Given the description of an element on the screen output the (x, y) to click on. 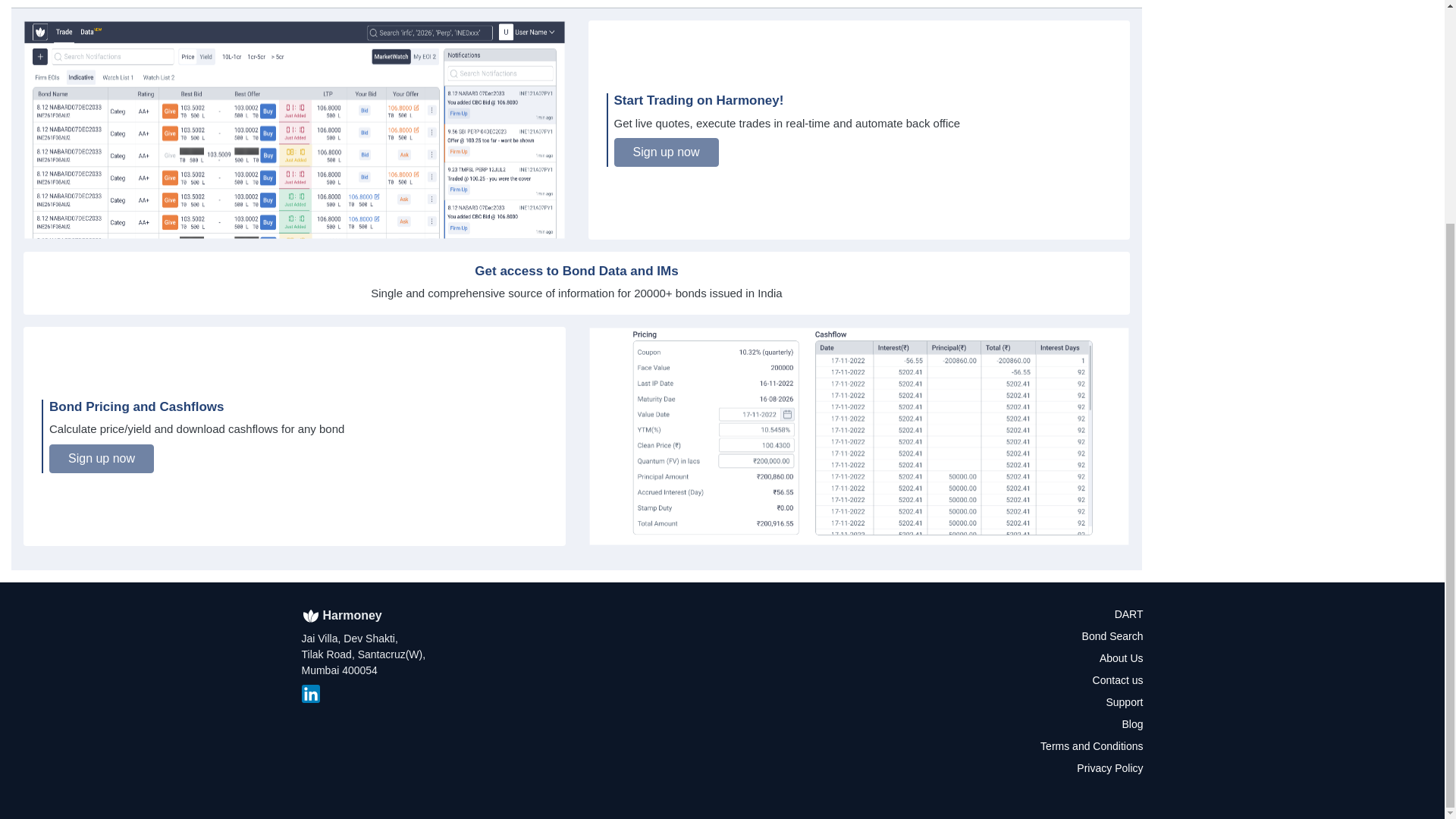
Support (1123, 702)
Privacy Policy (1109, 767)
Blog (1131, 724)
Contact us (1117, 680)
DART (1128, 613)
Bond Search (1111, 635)
Sign up now (666, 152)
Terms and Conditions (1091, 746)
About Us (1120, 657)
Sign up now (101, 458)
